Given the description of an element on the screen output the (x, y) to click on. 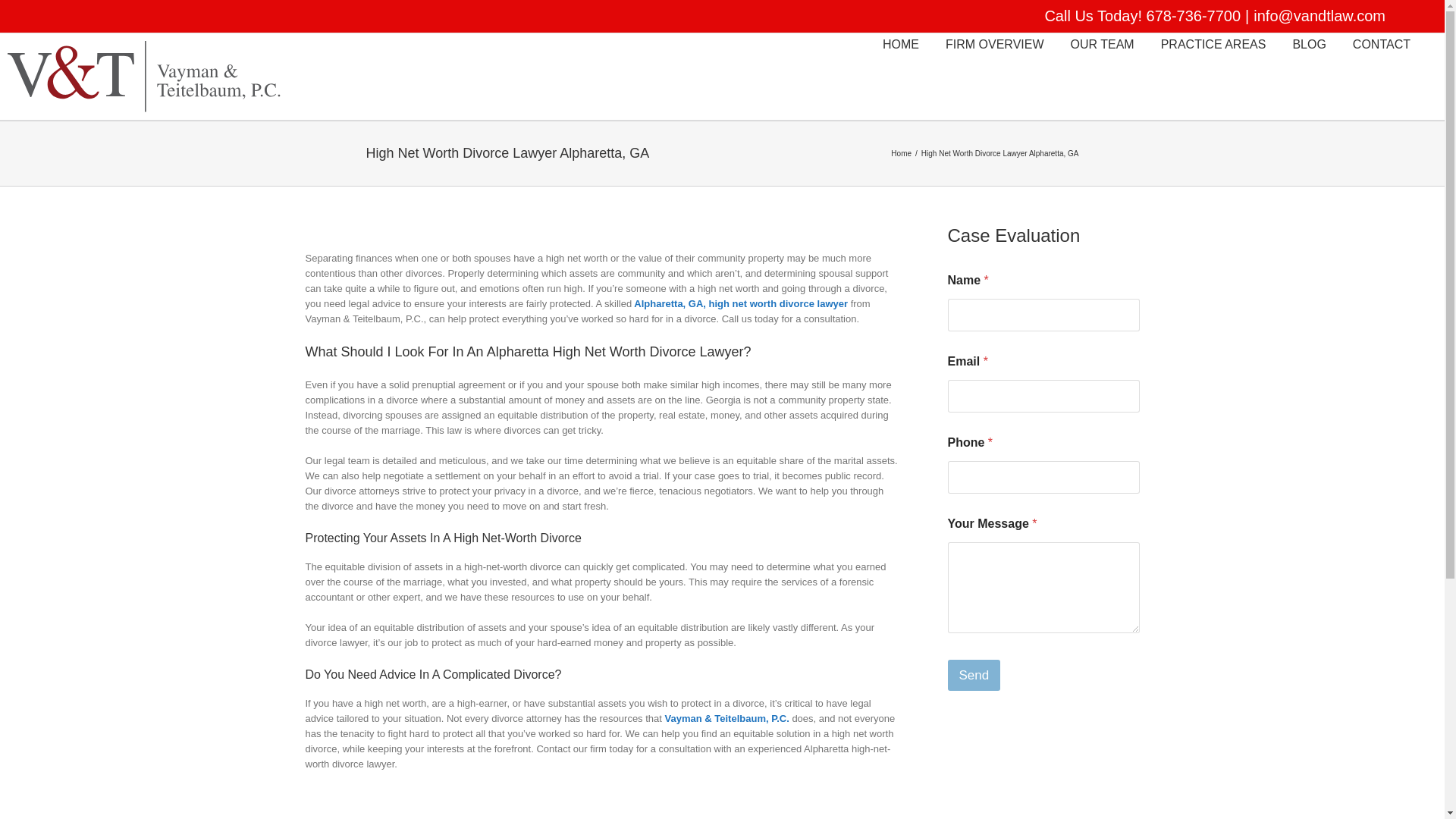
Call Us Today! 678-736-7700 (1141, 15)
OUR TEAM (1102, 43)
PRACTICE AREAS (1213, 43)
CONTACT (1381, 43)
BLOG (1308, 43)
HOME (900, 43)
FIRM OVERVIEW (993, 43)
